Given the description of an element on the screen output the (x, y) to click on. 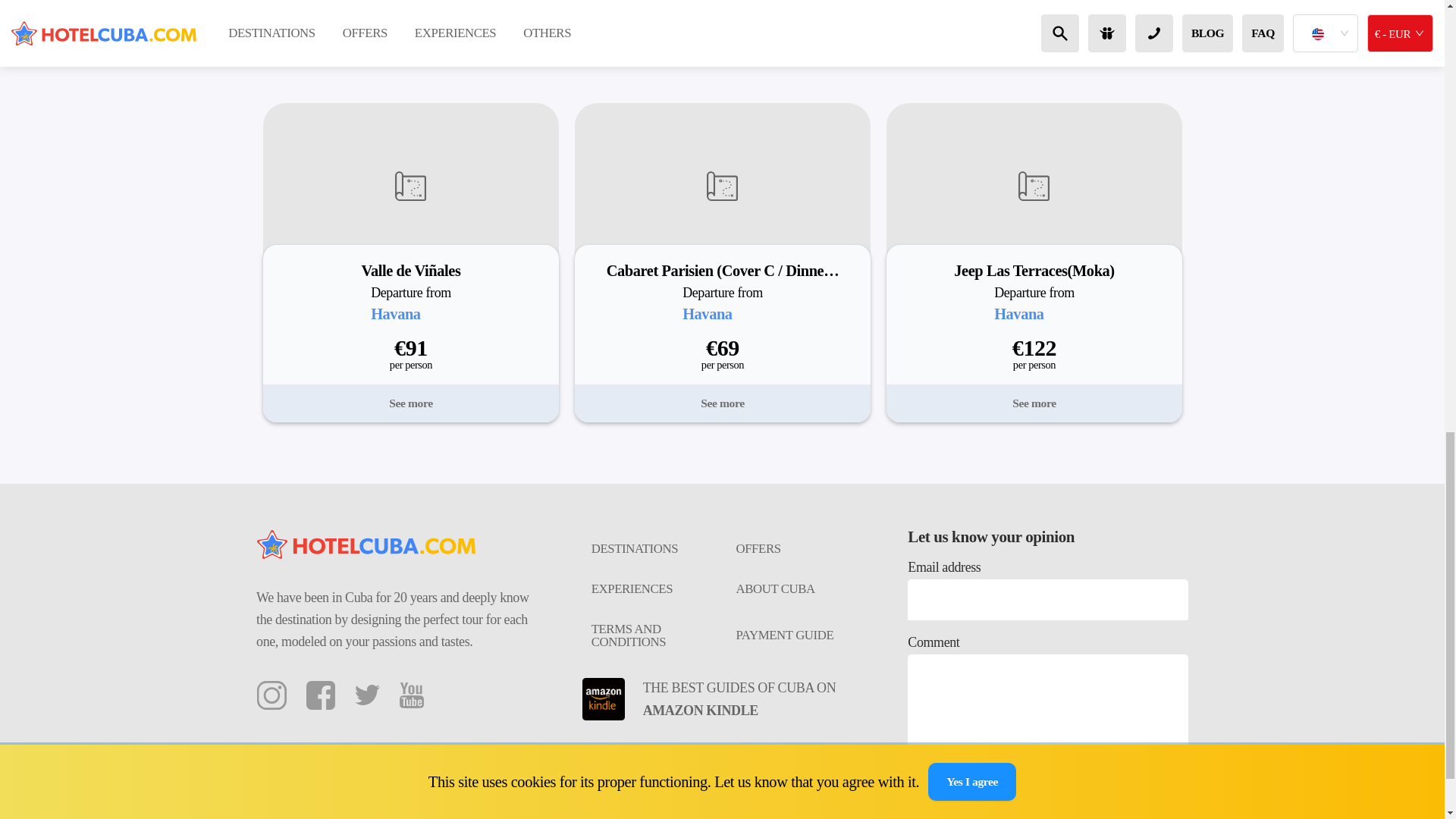
Havana (395, 313)
See more (1033, 403)
ABOUT CUBA (793, 589)
Havana (707, 313)
See more (410, 403)
Havana (1018, 313)
TERMS AND CONDITIONS (649, 636)
See more (722, 403)
DESTINATIONS (649, 549)
EXPERIENCES (649, 589)
PAYMENT GUIDE (793, 636)
OFFERS (793, 549)
